Given the description of an element on the screen output the (x, y) to click on. 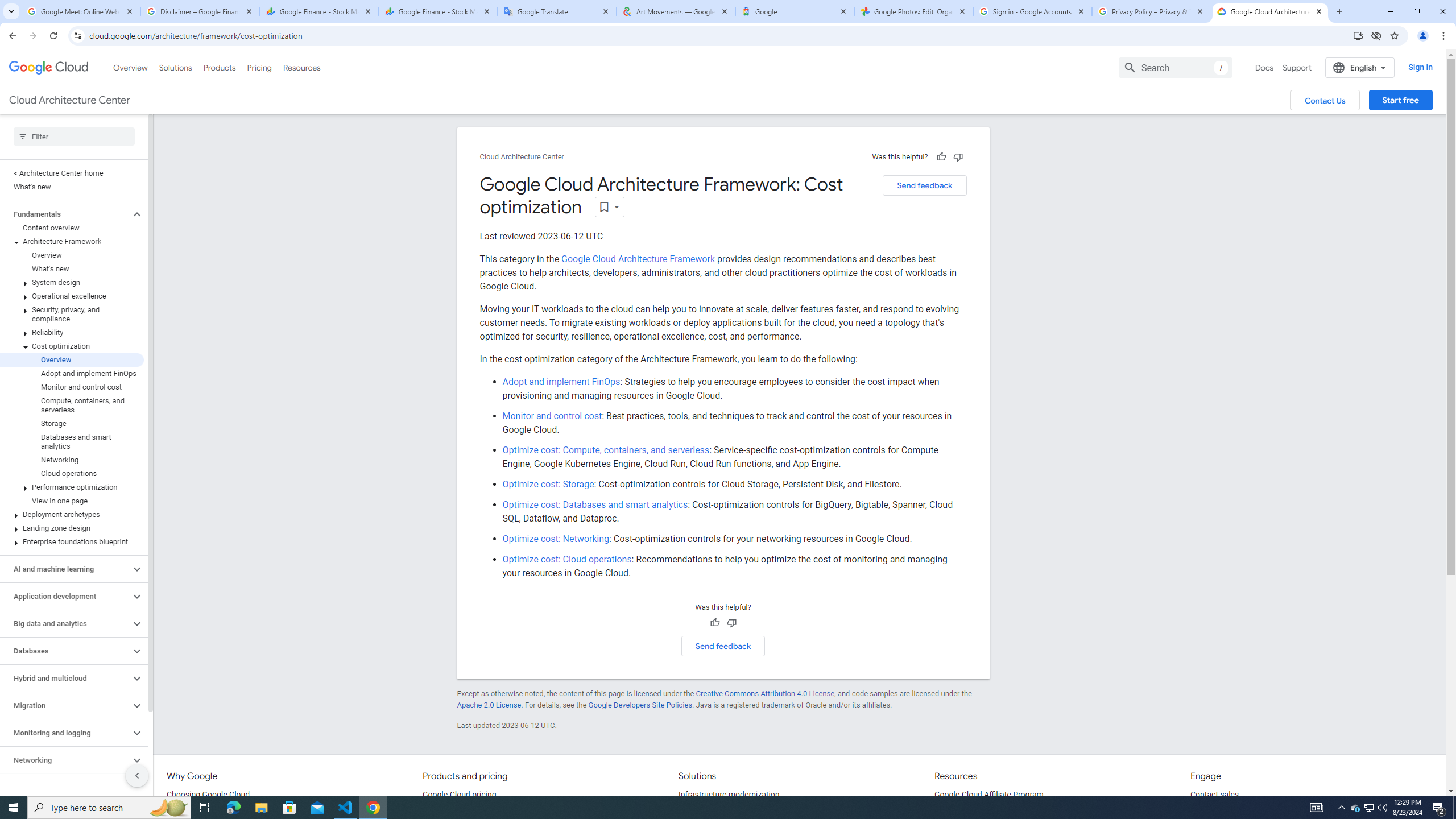
Hide side navigation (136, 775)
< Architecture Center home (72, 173)
Google Translate (556, 11)
Optimize cost: Compute, containers, and serverless (606, 449)
Cloud Architecture Center (521, 156)
Helpful (714, 622)
Google Cloud Architecture Framework (638, 258)
Pricing (259, 67)
Contact sales (1215, 795)
Choosing Google Cloud (207, 795)
Google Developers Site Policies (639, 705)
